Given the description of an element on the screen output the (x, y) to click on. 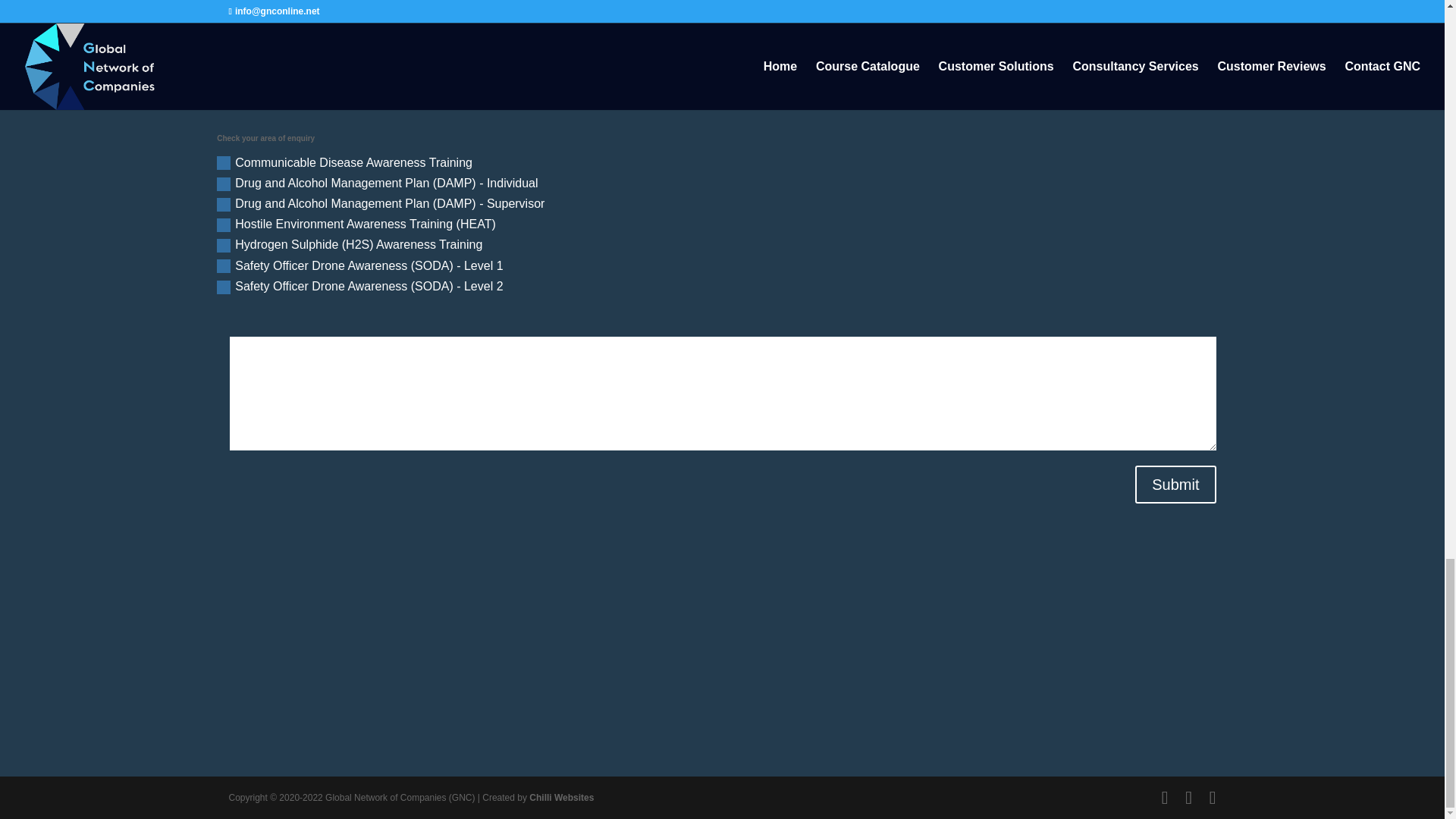
Chilli Websites (561, 797)
Submit (1175, 484)
